Given the description of an element on the screen output the (x, y) to click on. 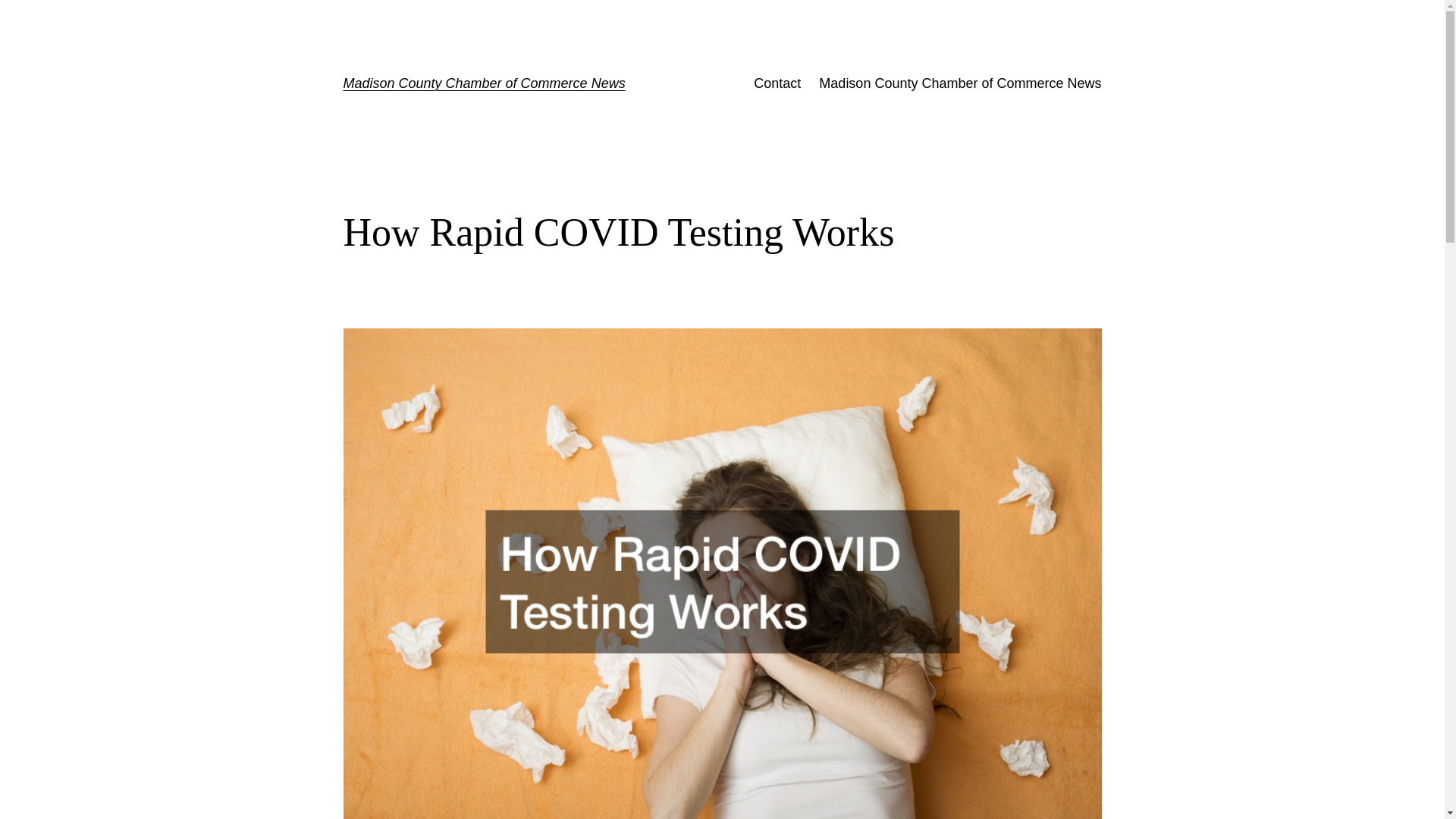
Madison County Chamber of Commerce News (483, 83)
Madison County Chamber of Commerce News (959, 83)
Contact (777, 83)
